Given the description of an element on the screen output the (x, y) to click on. 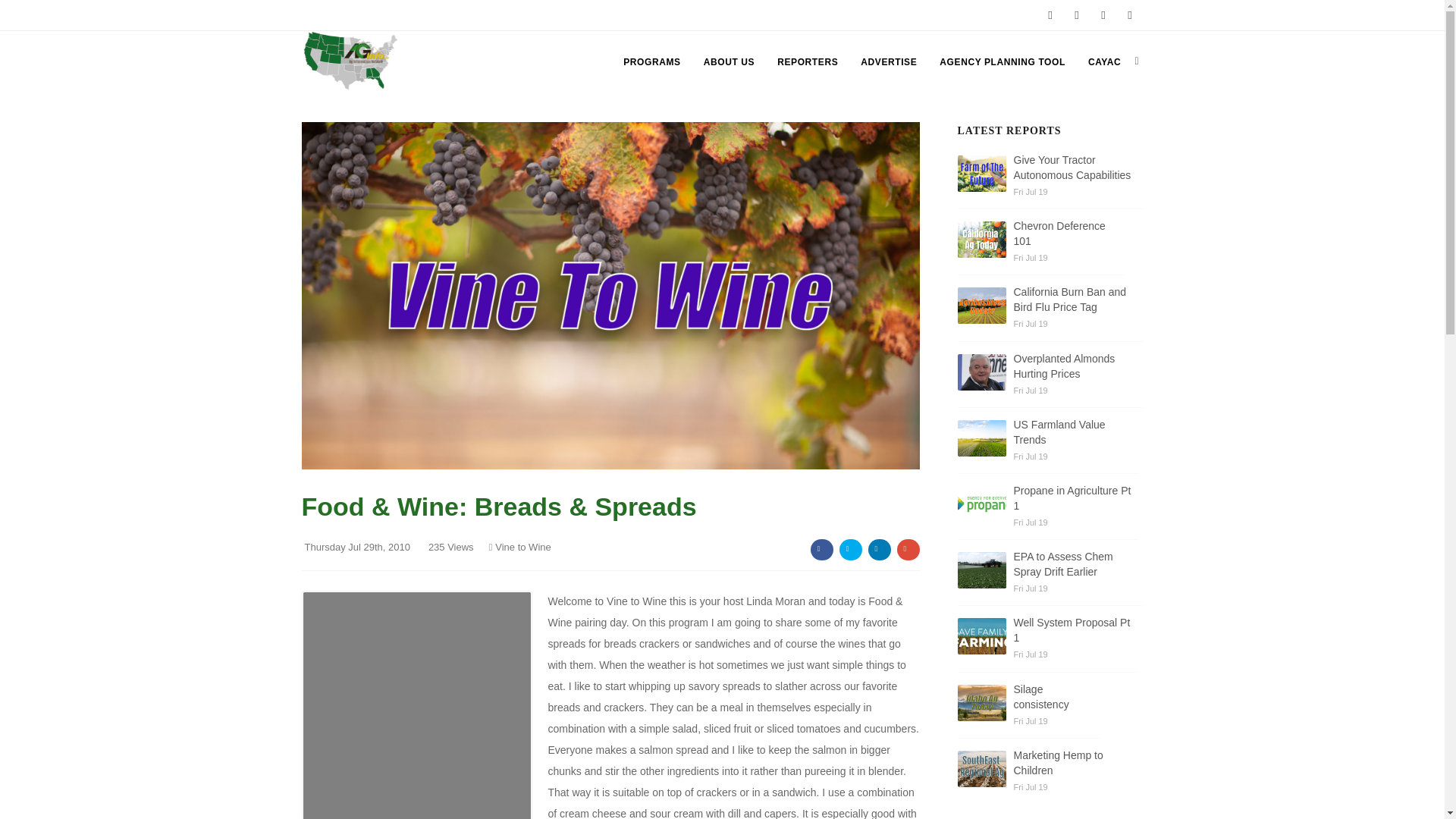
ABOUT US (728, 62)
PROGRAMS (651, 62)
